Given the description of an element on the screen output the (x, y) to click on. 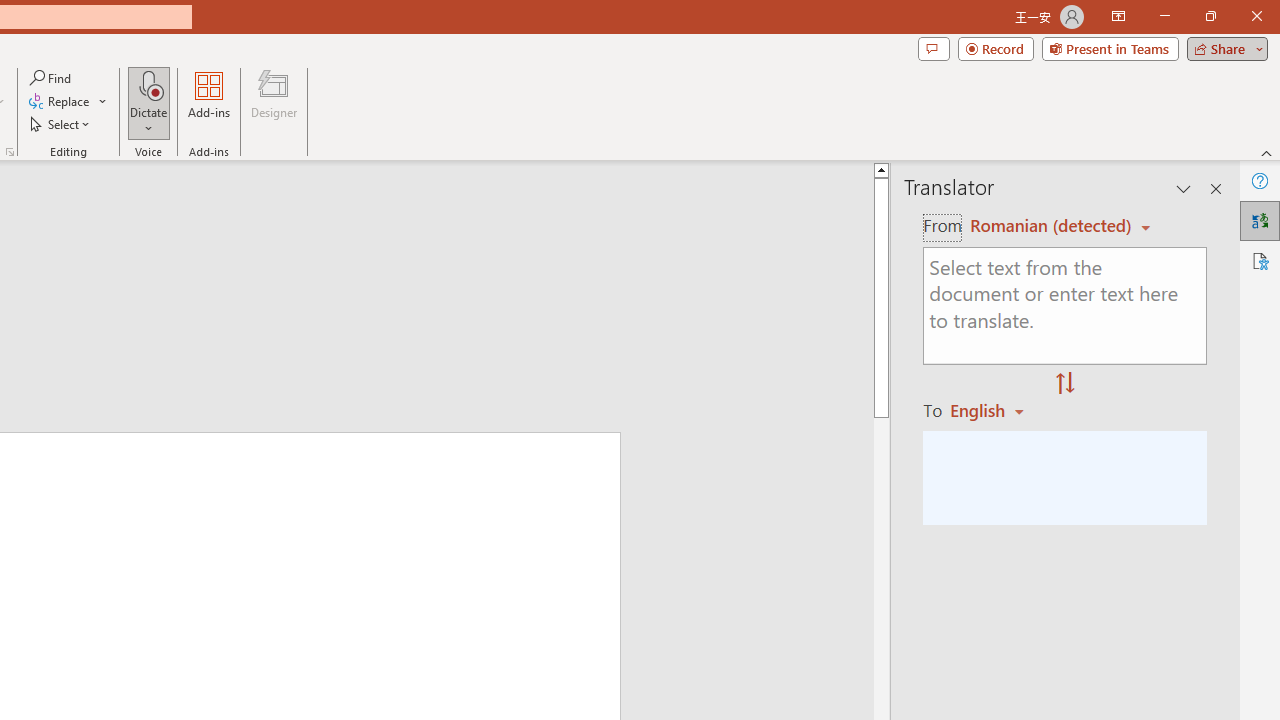
Romanian (994, 409)
Swap "from" and "to" languages. (1065, 383)
Select (61, 124)
